Given the description of an element on the screen output the (x, y) to click on. 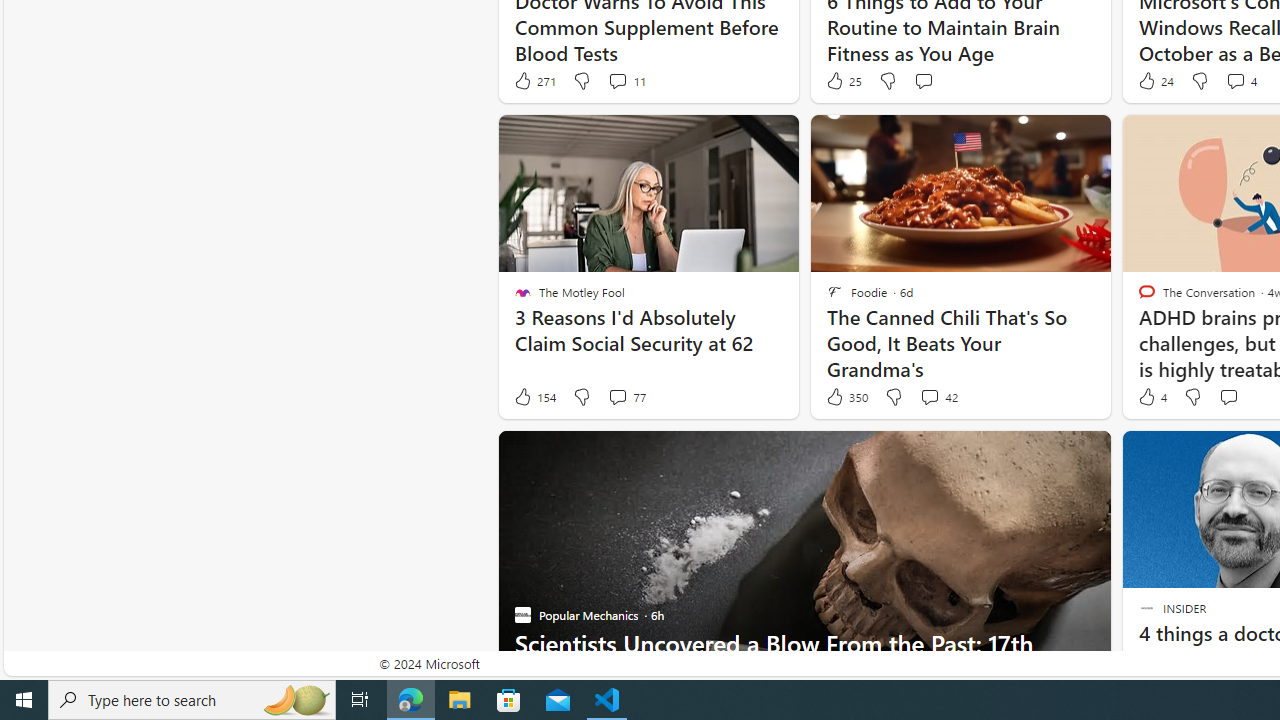
View comments 11 Comment (617, 80)
154 Like (534, 397)
